Given the description of an element on the screen output the (x, y) to click on. 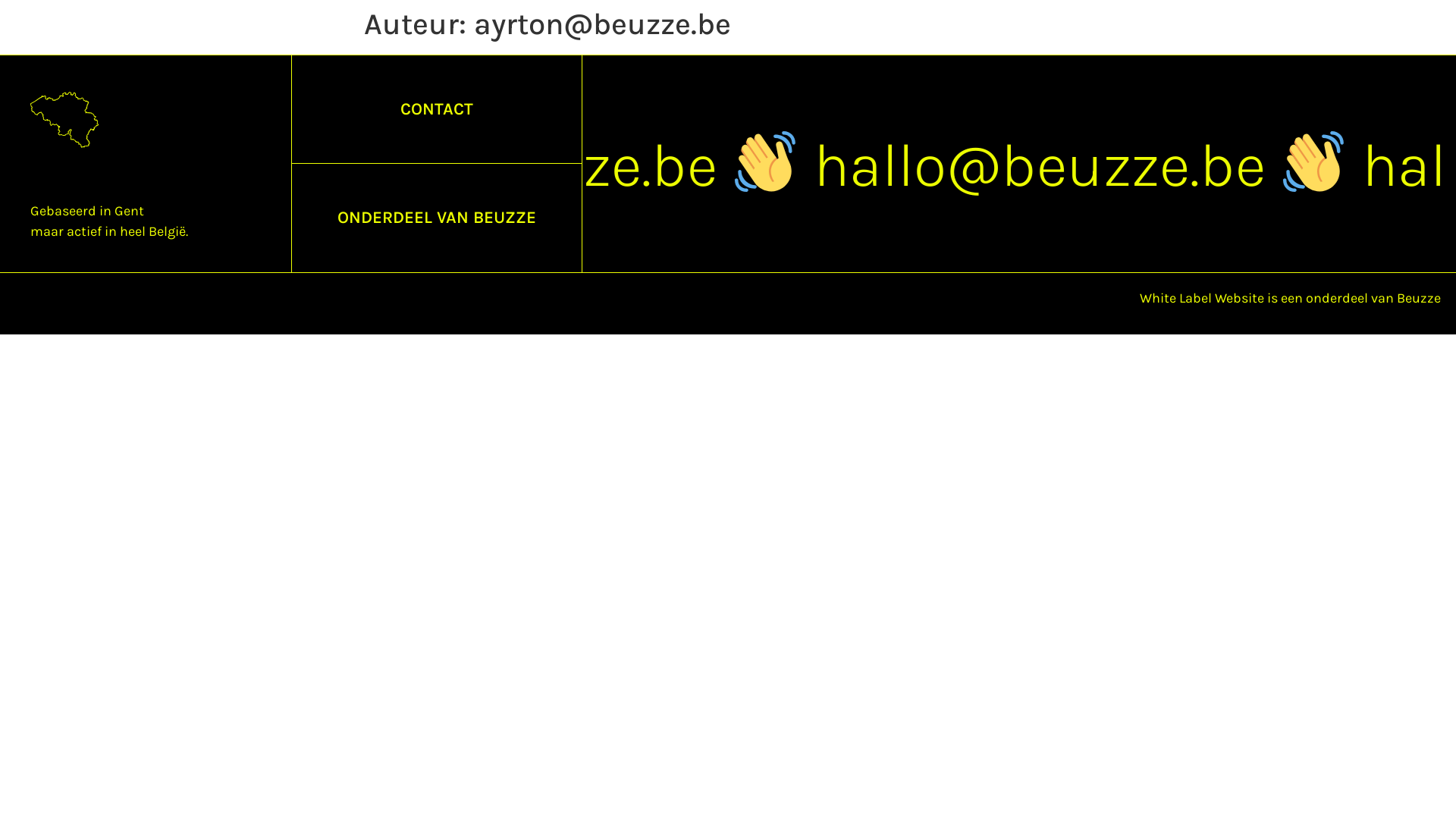
ONDERDEEL VAN BEUZZE Element type: text (436, 217)
CONTACT Element type: text (436, 109)
